Given the description of an element on the screen output the (x, y) to click on. 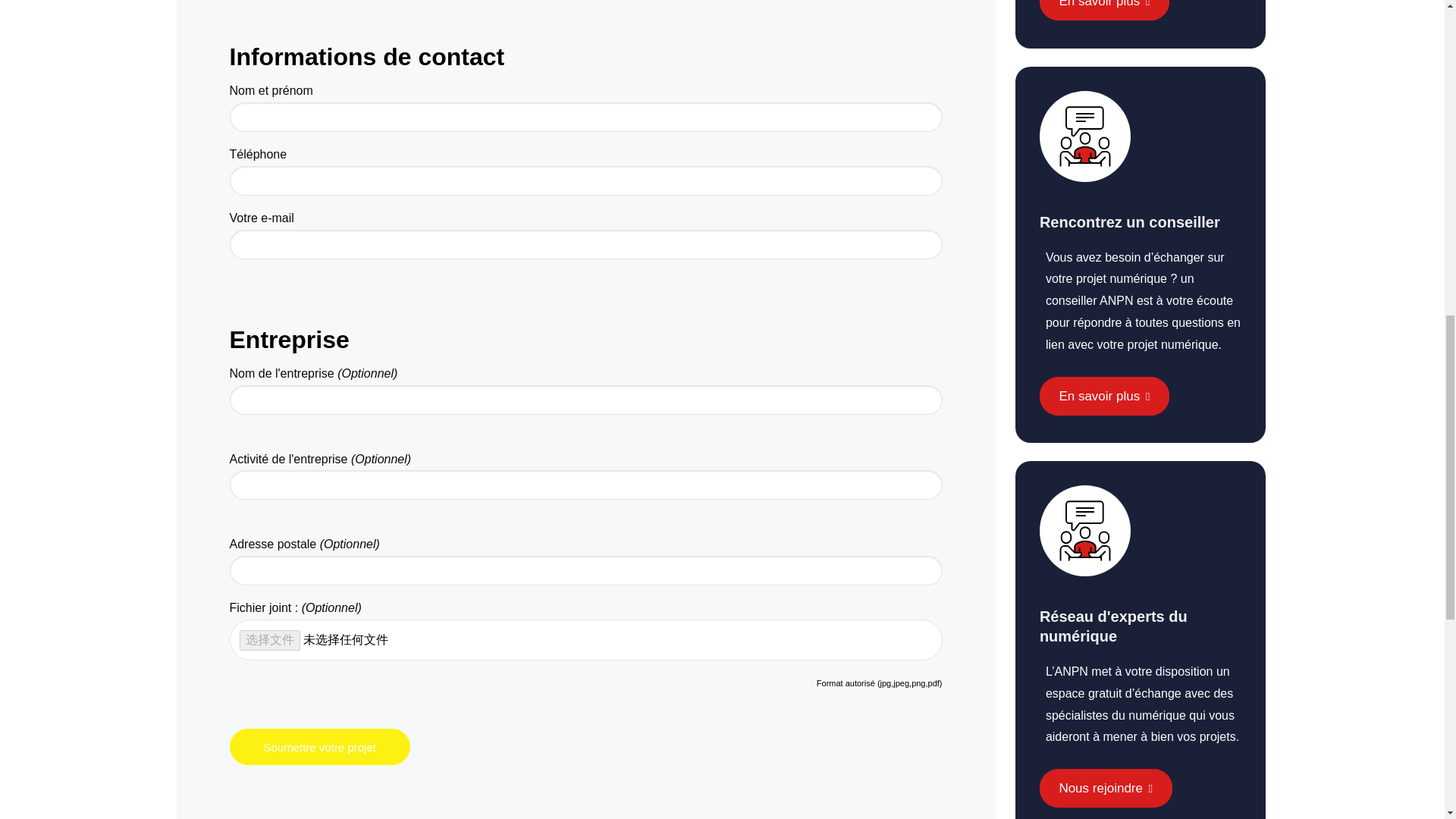
Soumettre votre projet (318, 746)
Nous rejoindre (1105, 788)
Nous rejoindre (1105, 788)
En savoir plus (1104, 10)
Soumettre votre projet (318, 746)
En savoir plus (1104, 395)
En savoir plus (1104, 10)
En savoir plus (1104, 395)
